Given the description of an element on the screen output the (x, y) to click on. 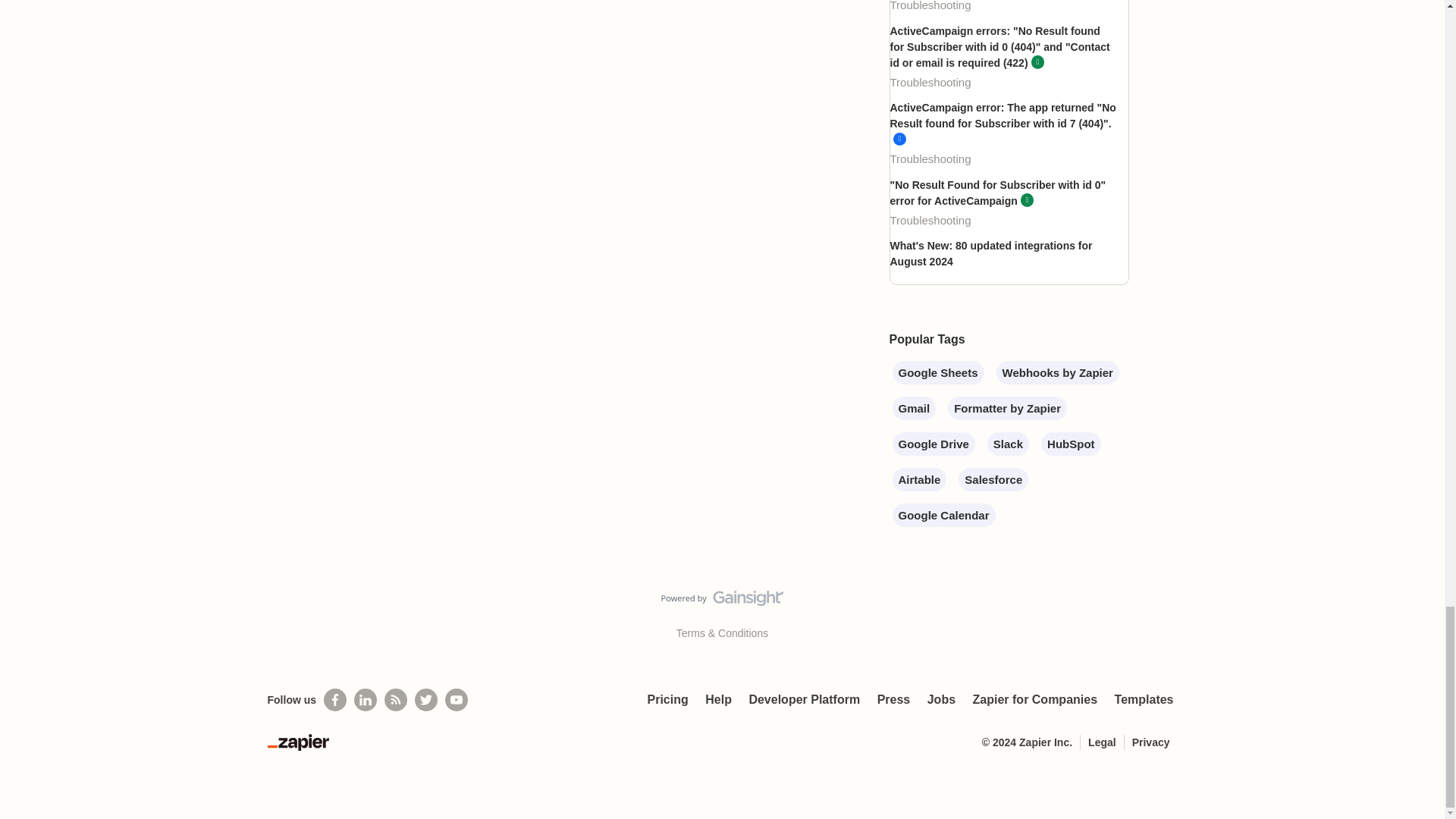
See helpful Zapier videos on Youtube (456, 699)
Follow us on LinkedIn (365, 699)
Visit Gainsight.com (722, 601)
Follow us on Facebook (334, 699)
Subscribe to our blog (395, 699)
